Given the description of an element on the screen output the (x, y) to click on. 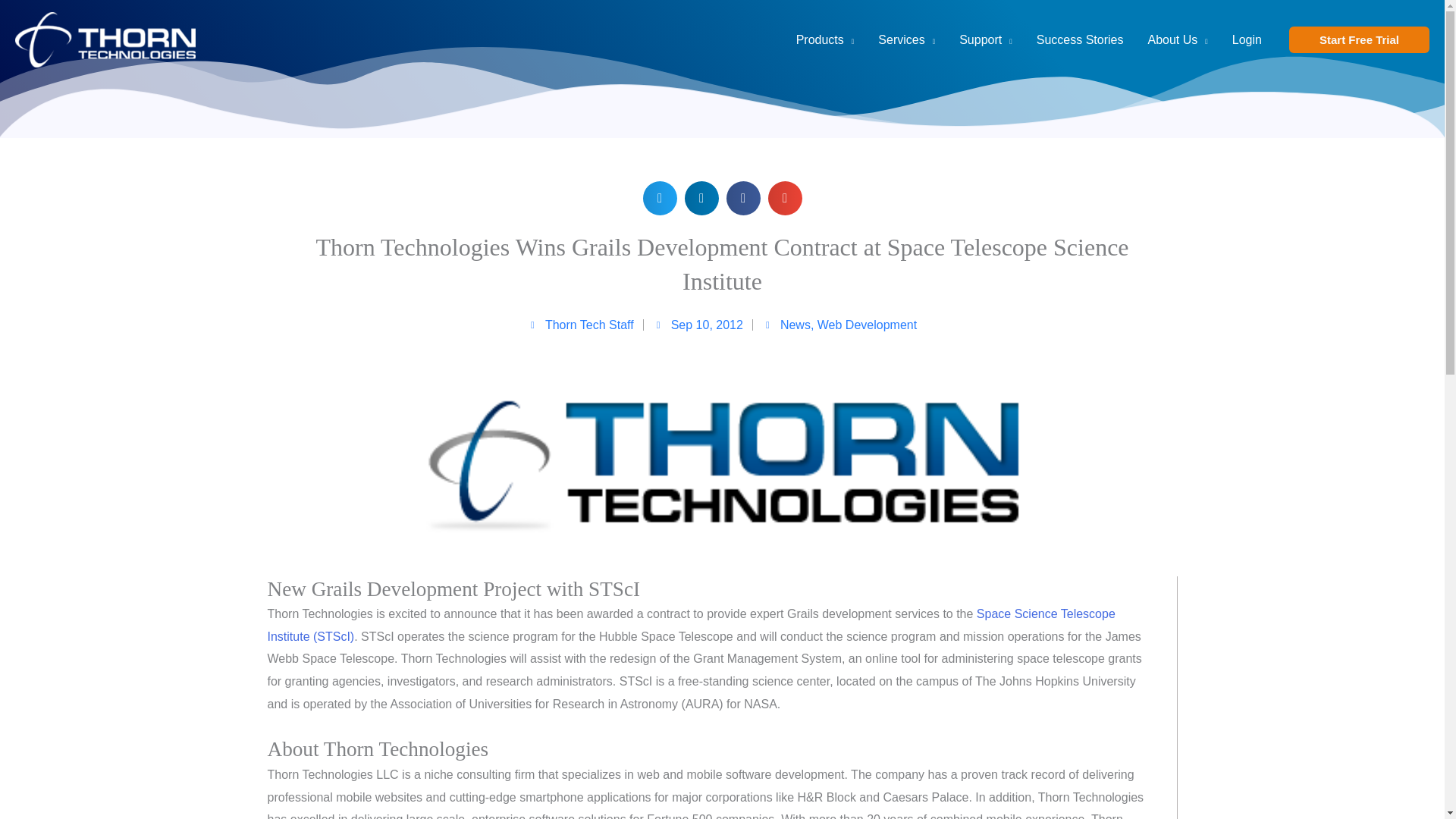
About Us (1177, 39)
Thorn Tech Wins Grails Development Contract at STScI (690, 624)
Services (906, 39)
Thorn Tech Staff (580, 324)
Products (825, 39)
Sep 10, 2012 (697, 324)
Login (1247, 39)
Start Free Trial (1358, 39)
Success Stories (1080, 39)
Support (986, 39)
